Given the description of an element on the screen output the (x, y) to click on. 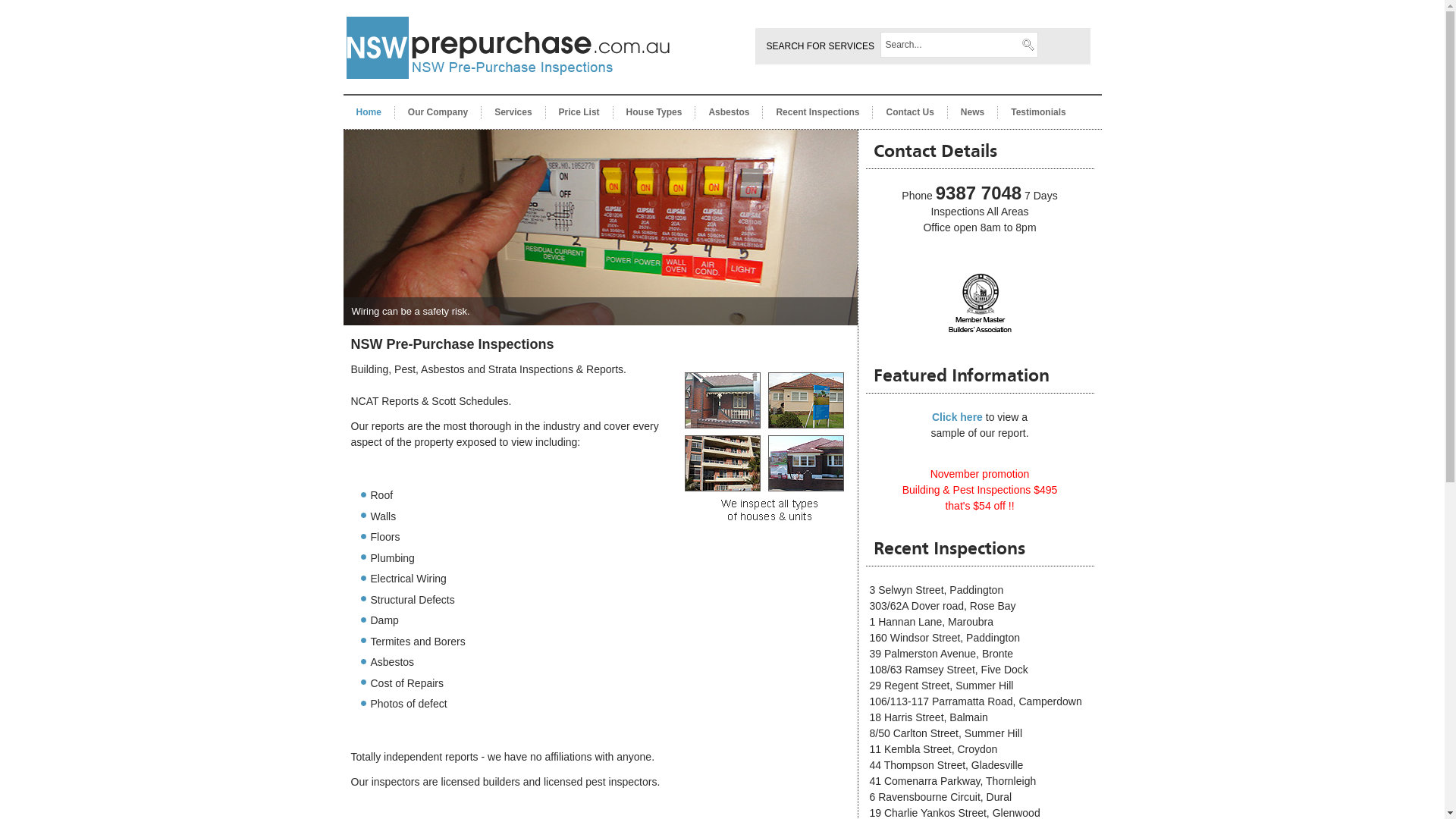
Recent Inspections Element type: text (817, 111)
Home Element type: text (367, 111)
Services Element type: text (512, 111)
NSW Prepurchase Element type: hover (507, 92)
Asbestos Element type: text (728, 111)
News Element type: text (972, 111)
Testimonials Element type: text (1037, 111)
Contact Us Element type: text (909, 111)
Price List Element type: text (579, 111)
House Types Element type: text (654, 111)
Our Company Element type: text (437, 111)
Click here Element type: text (956, 417)
